Given the description of an element on the screen output the (x, y) to click on. 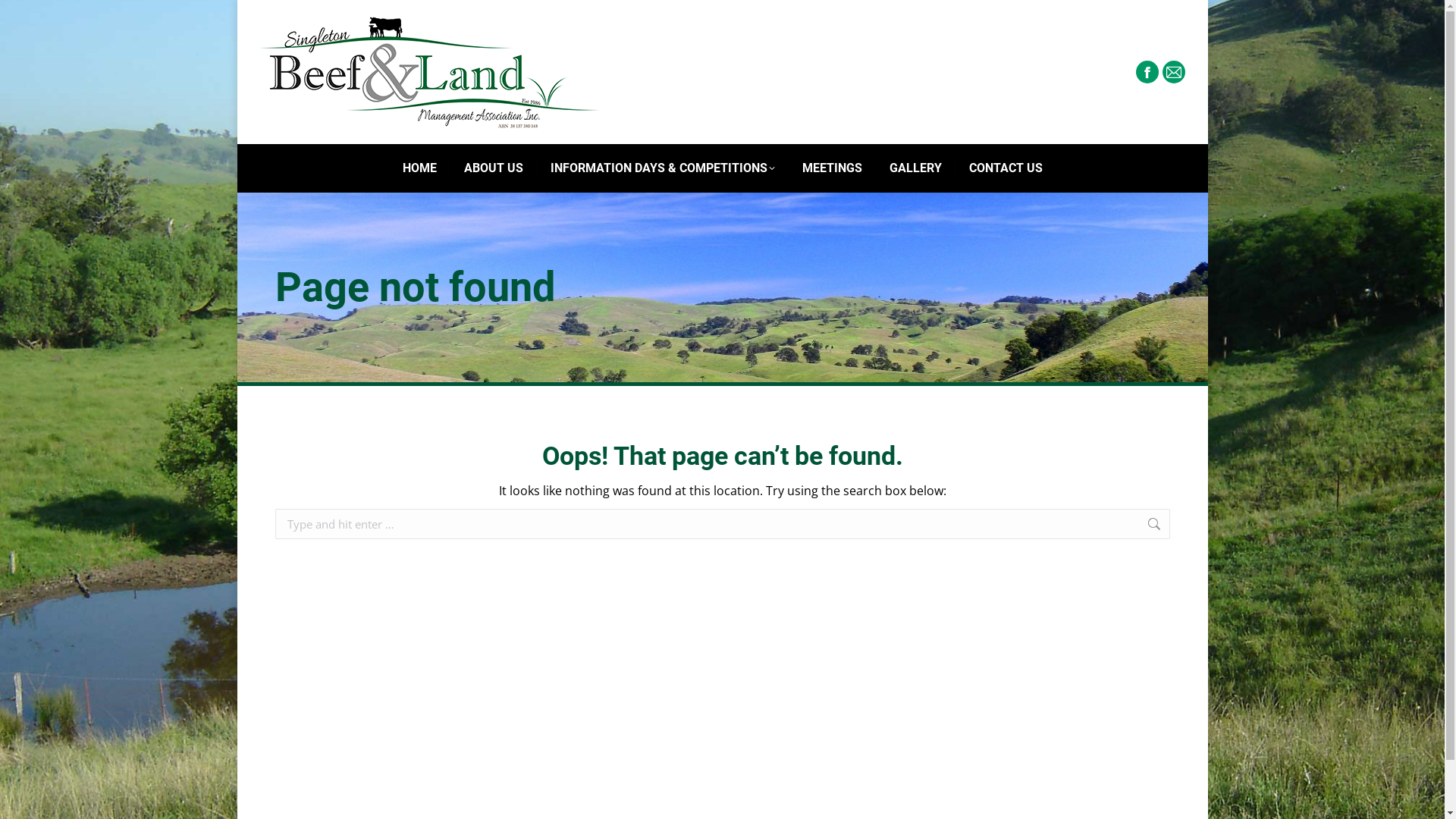
MEETINGS Element type: text (832, 167)
Facebook page opens in new window Element type: text (1146, 71)
Mail page opens in new window Element type: text (1172, 71)
GALLERY Element type: text (914, 167)
Go! Element type: text (23, 16)
Go! Element type: text (1192, 525)
CONTACT US Element type: text (1005, 167)
ABOUT US Element type: text (493, 167)
INFORMATION DAYS & COMPETITIONS Element type: text (662, 167)
HOME Element type: text (418, 167)
